Given the description of an element on the screen output the (x, y) to click on. 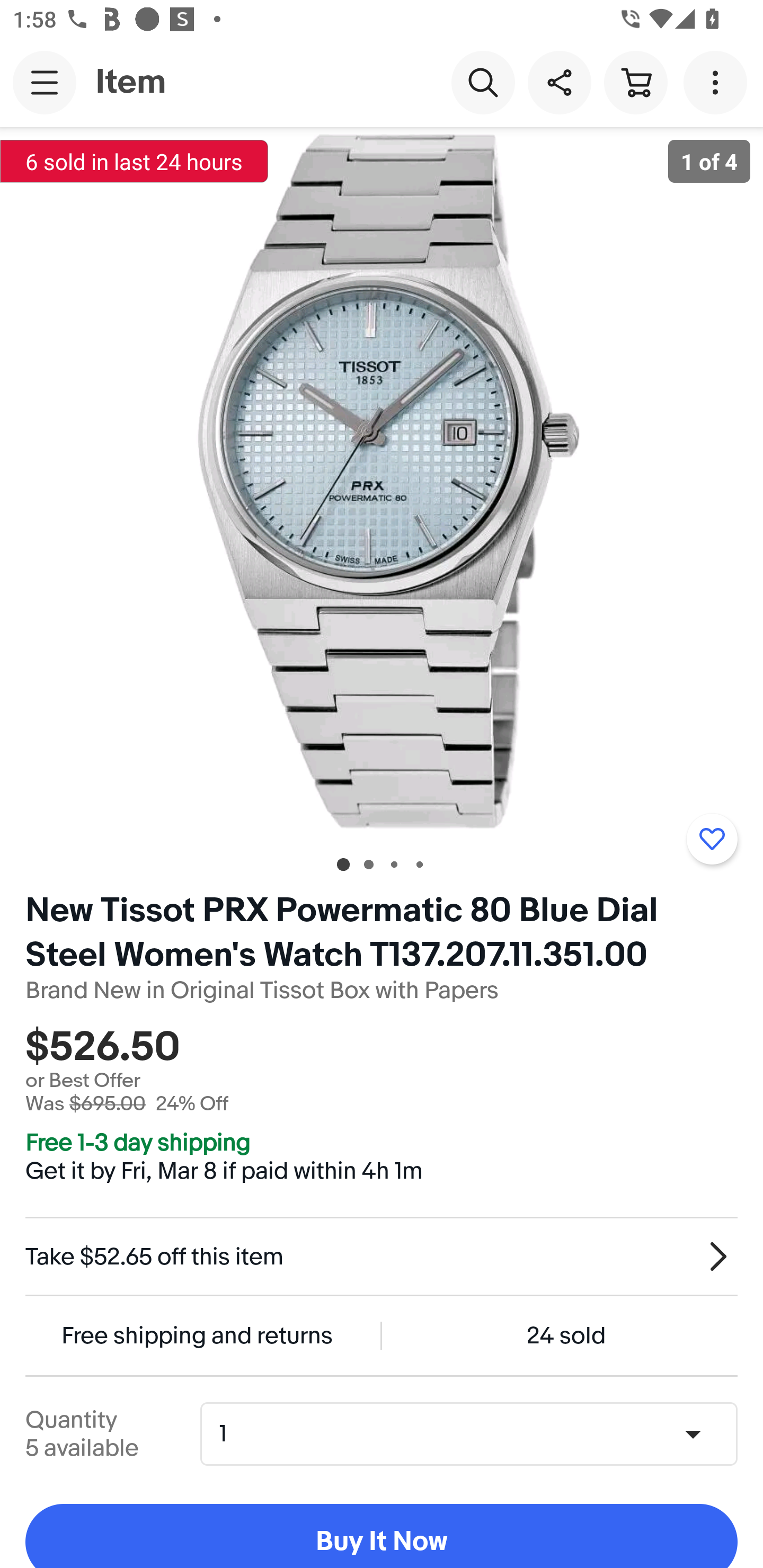
Main navigation, open (44, 82)
Search (482, 81)
Share this item (559, 81)
Cart button shopping cart (635, 81)
More options (718, 81)
Item image 1 of 4 (381, 482)
6 sold in last 24 hours (133, 161)
Add to watchlist (711, 838)
Quantity,1,5 available 1 (474, 1433)
Buy It Now (381, 1535)
